Given the description of an element on the screen output the (x, y) to click on. 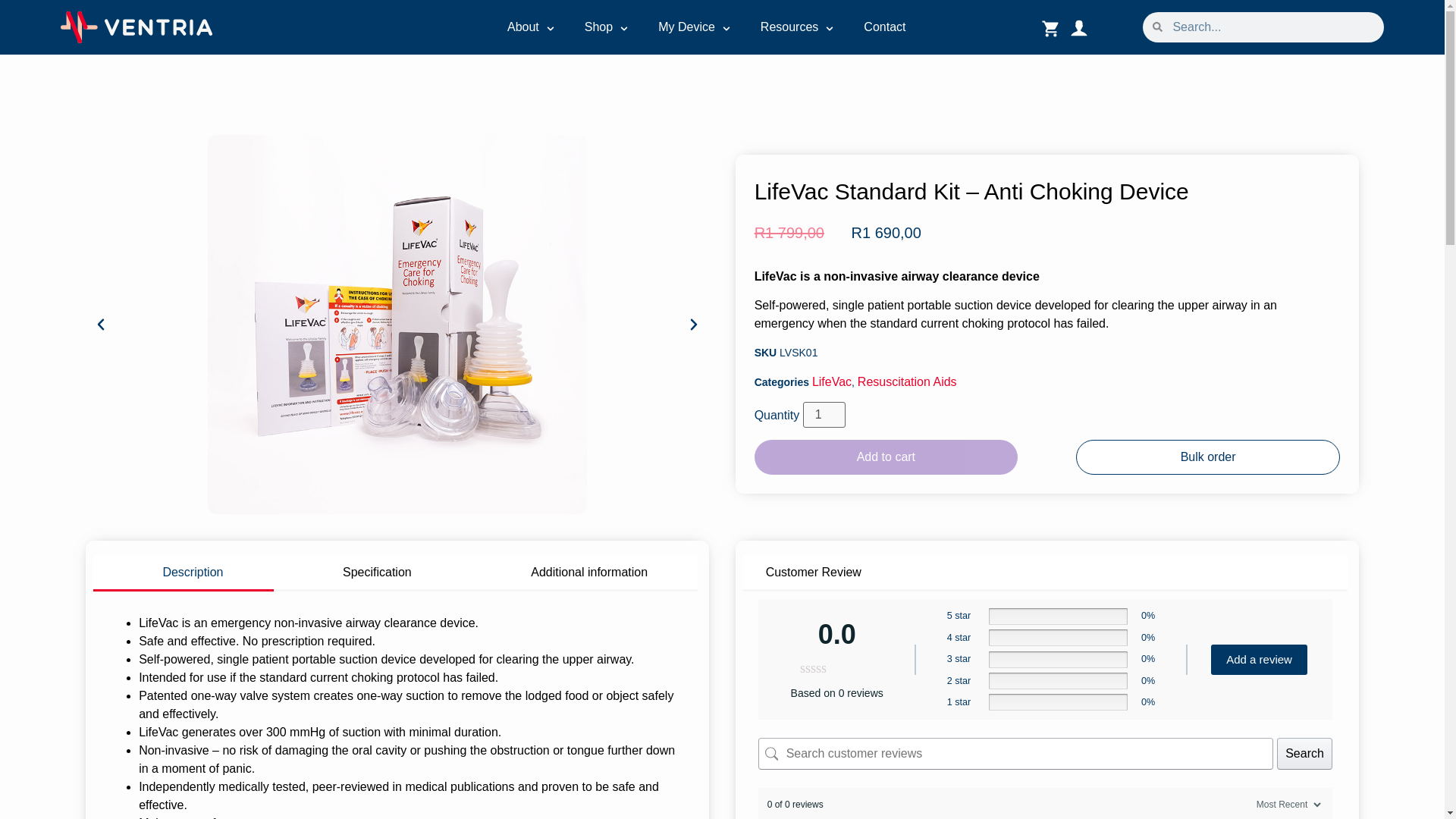
1 (824, 414)
Shop (598, 27)
About (522, 27)
